Given the description of an element on the screen output the (x, y) to click on. 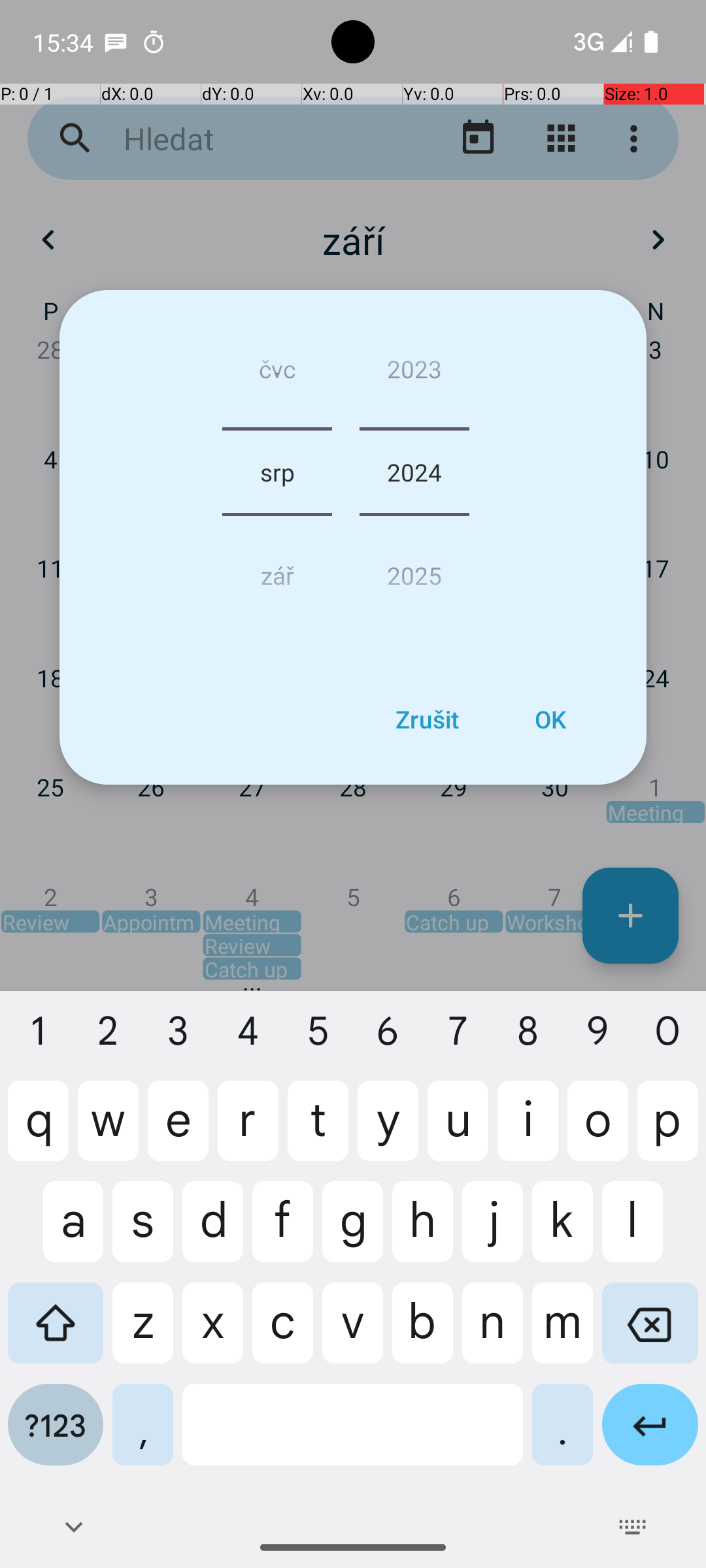
Zrušit Element type: android.widget.Button (426, 719)
čvc Element type: android.widget.Button (277, 373)
srp Element type: android.widget.EditText (277, 471)
zář Element type: android.widget.Button (277, 569)
